Given the description of an element on the screen output the (x, y) to click on. 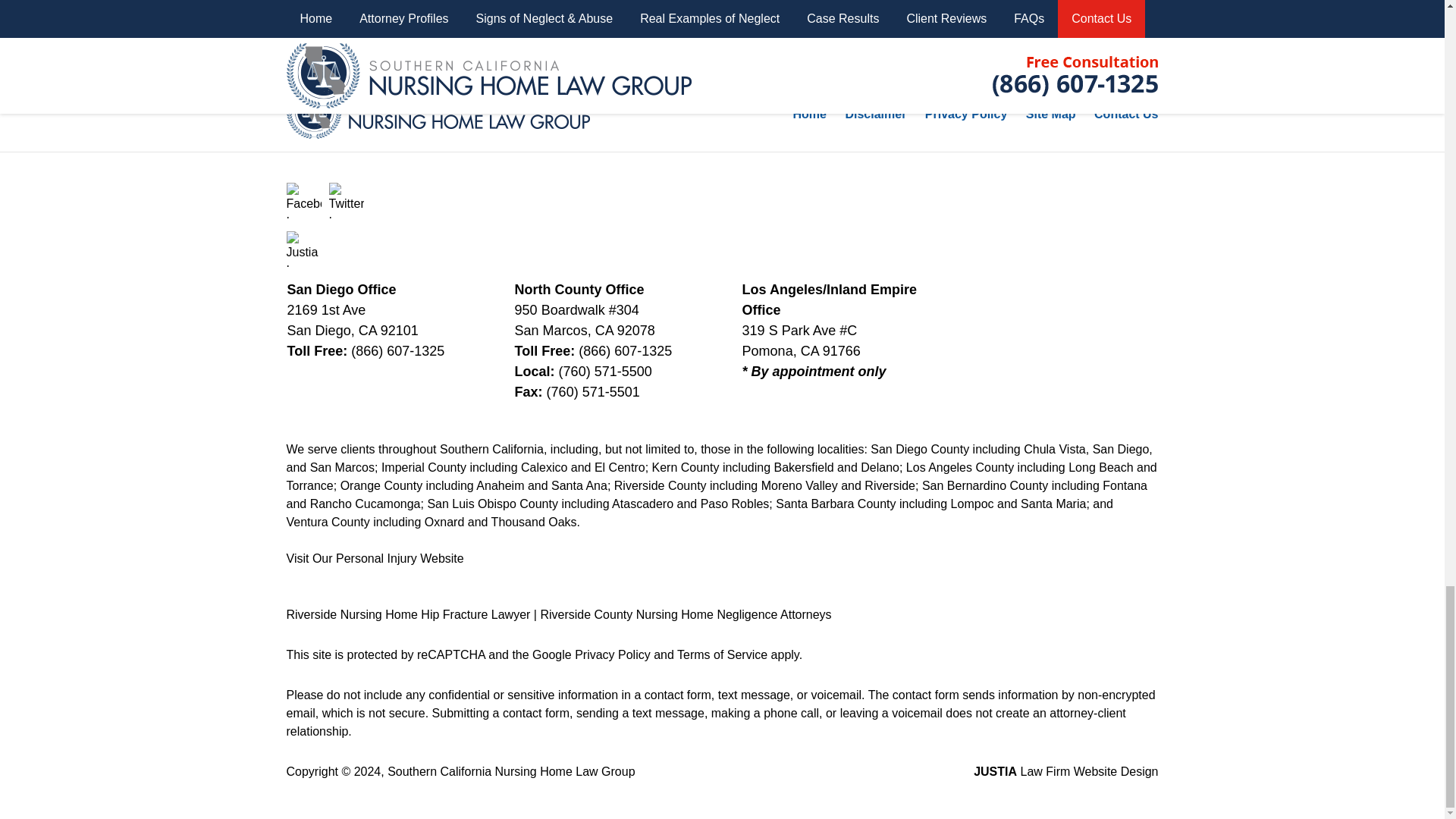
Justia (303, 248)
Facebook (303, 200)
Twitter (347, 200)
